Given the description of an element on the screen output the (x, y) to click on. 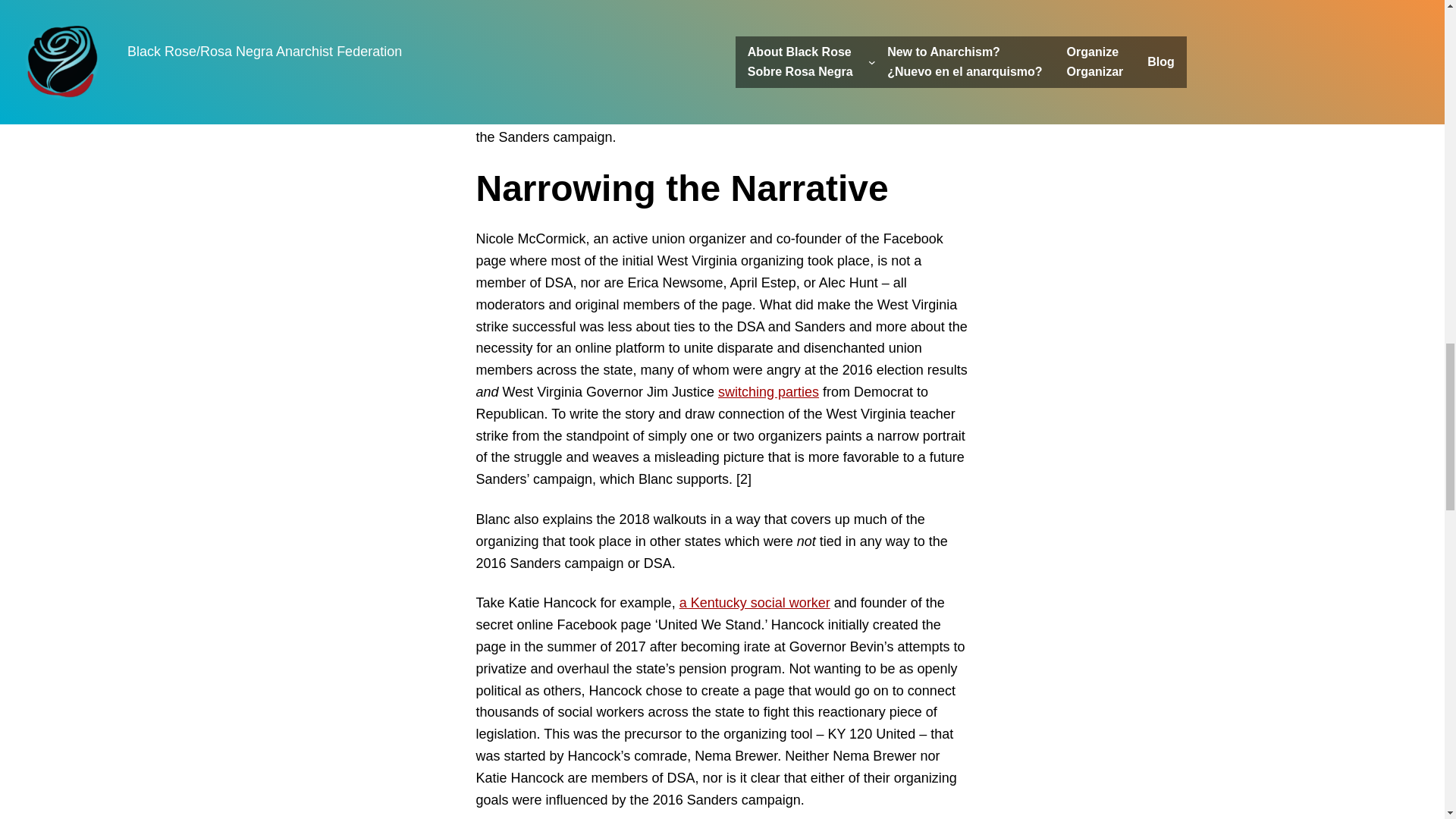
switching parties (767, 391)
a Kentucky social worker (754, 602)
